Given the description of an element on the screen output the (x, y) to click on. 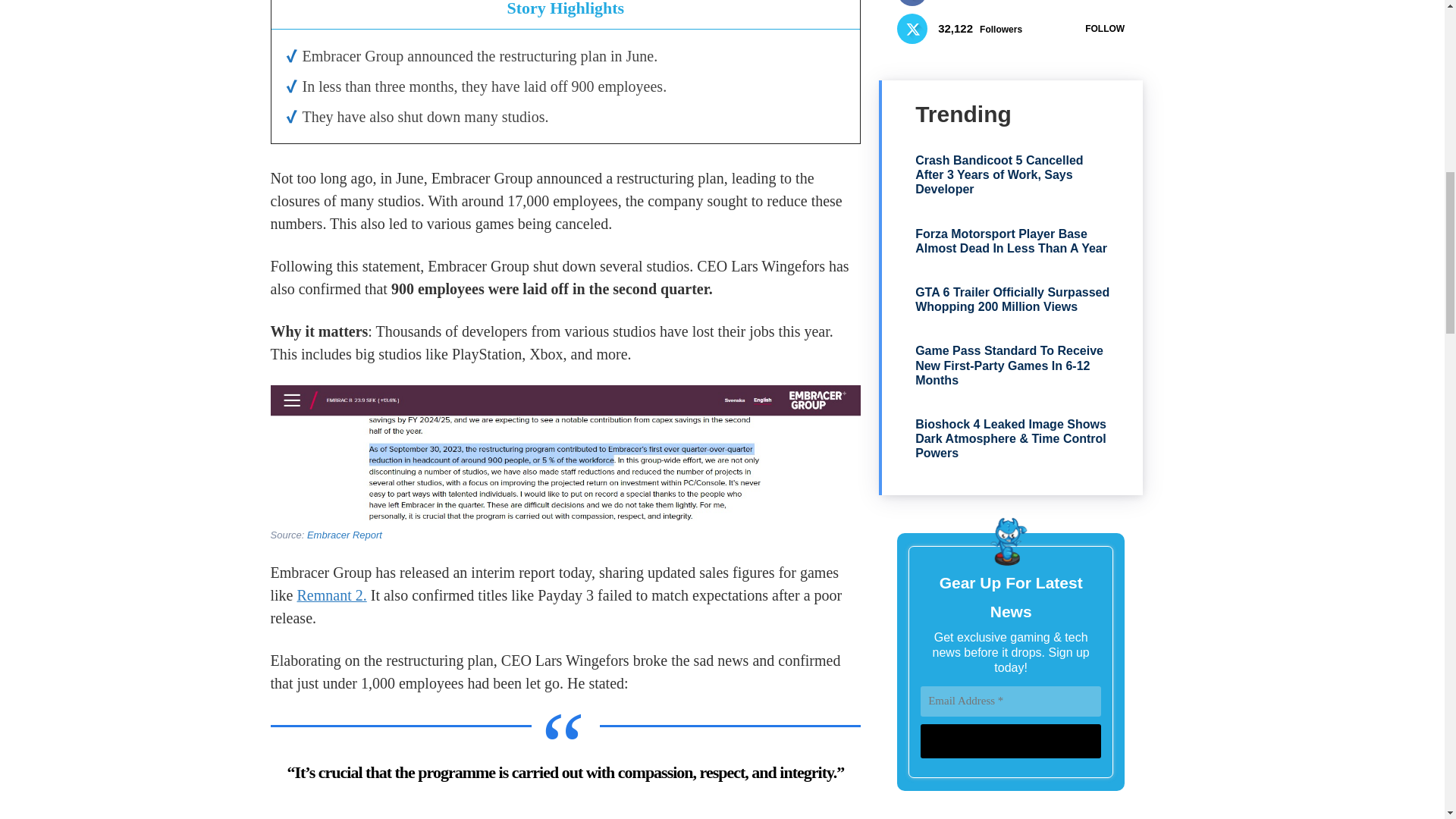
Subscribe! (1010, 740)
